Given the description of an element on the screen output the (x, y) to click on. 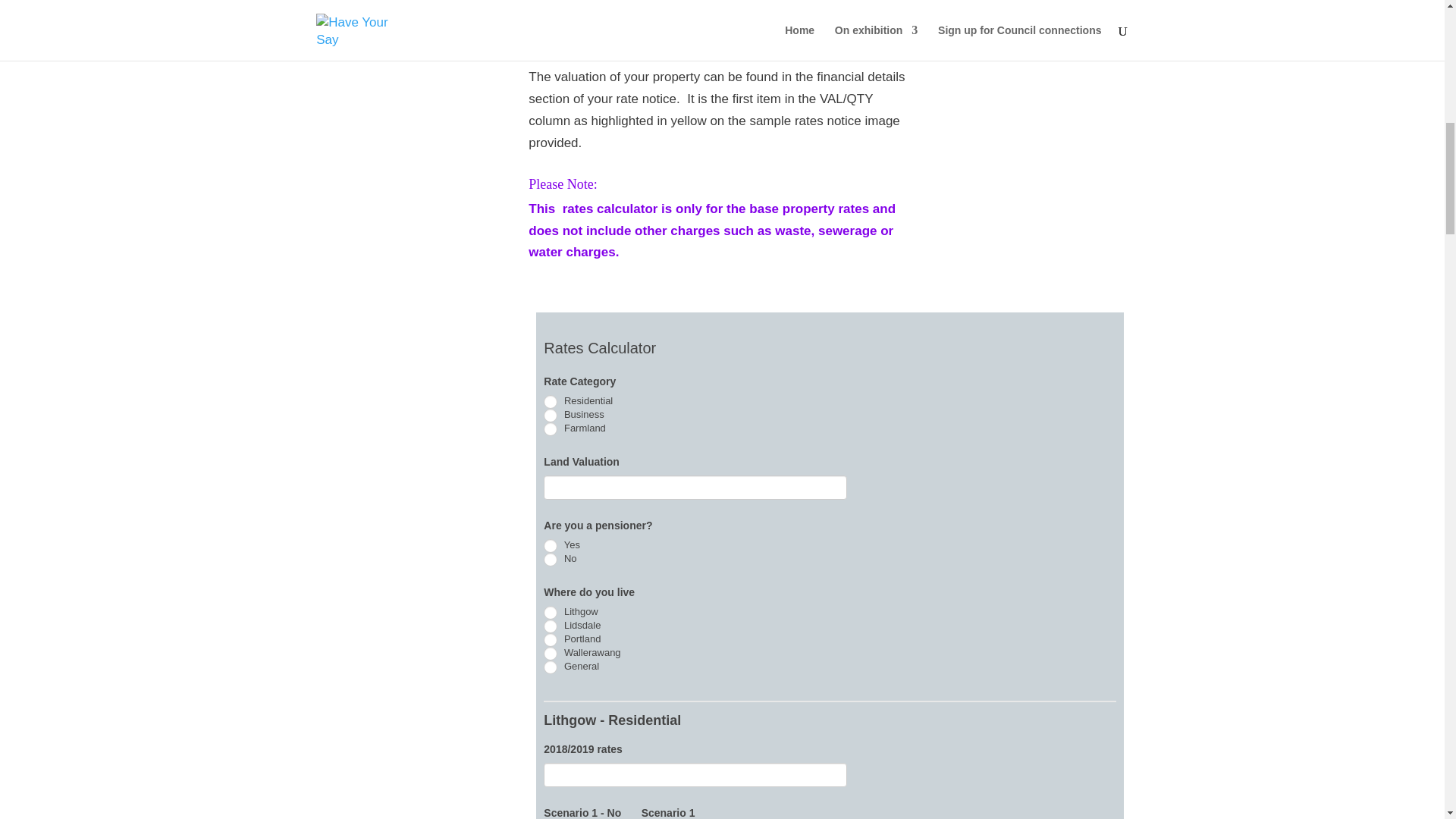
Lithgow (550, 612)
Lidsdale (550, 626)
General (550, 667)
Wallerawang (550, 653)
Residential (550, 401)
Farmland (550, 428)
Business (550, 415)
250 (550, 545)
0 (550, 559)
Portland (550, 640)
